Given the description of an element on the screen output the (x, y) to click on. 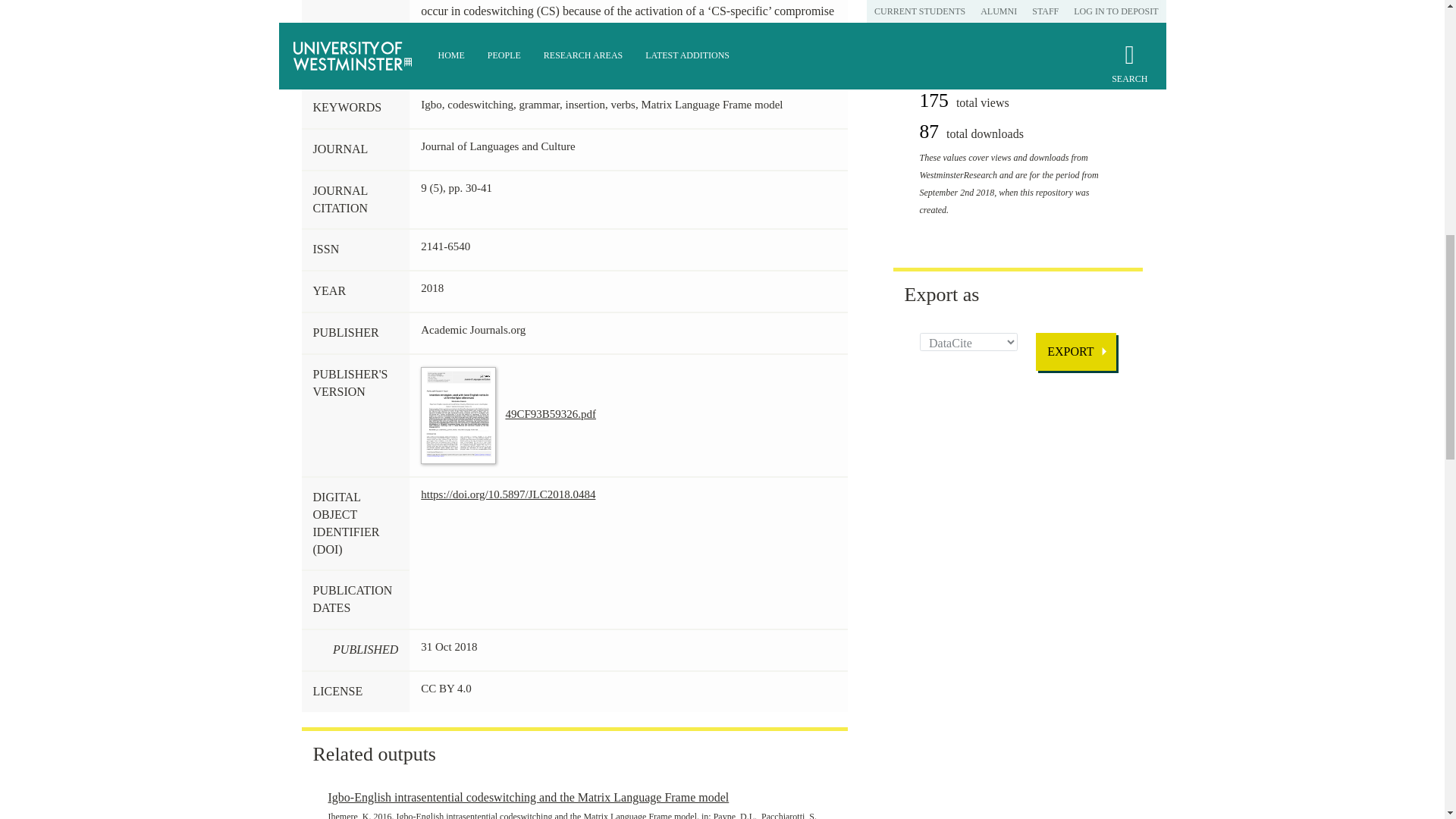
EXPORT (1075, 351)
49CF93B59326.pdf (507, 413)
